Given the description of an element on the screen output the (x, y) to click on. 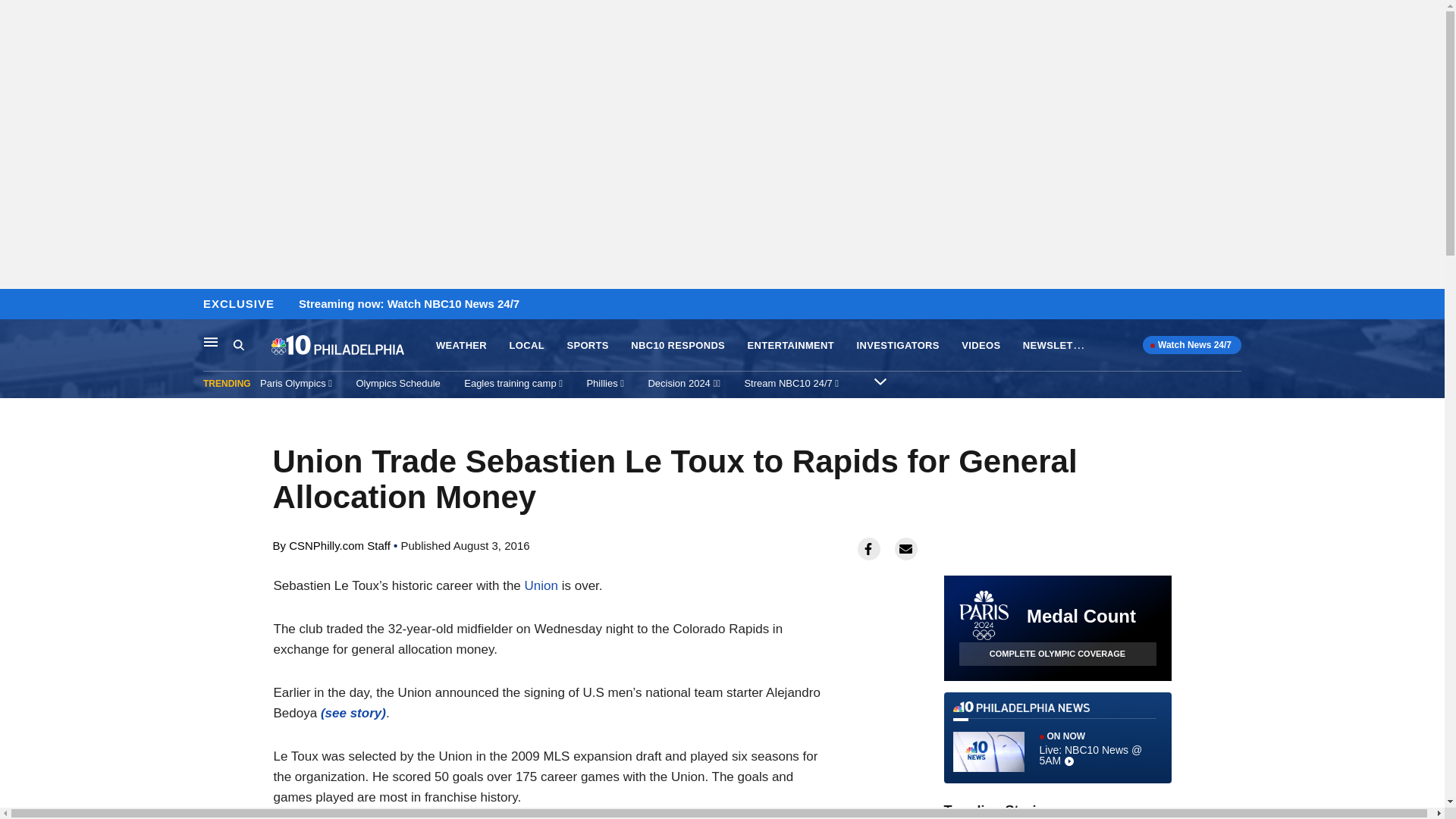
VIDEOS (980, 345)
SPORTS (587, 345)
Union (540, 585)
INVESTIGATORS (898, 345)
NBC10 RESPONDS (677, 345)
LOCAL (526, 345)
Skip to content (16, 304)
Search (252, 345)
COMPLETE OLYMPIC COVERAGE (1057, 653)
Expand (880, 381)
NEWSLETTERS (1061, 344)
Olympics Schedule (398, 383)
ENTERTAINMENT (791, 345)
Main Navigation (210, 341)
WEATHER (460, 345)
